Given the description of an element on the screen output the (x, y) to click on. 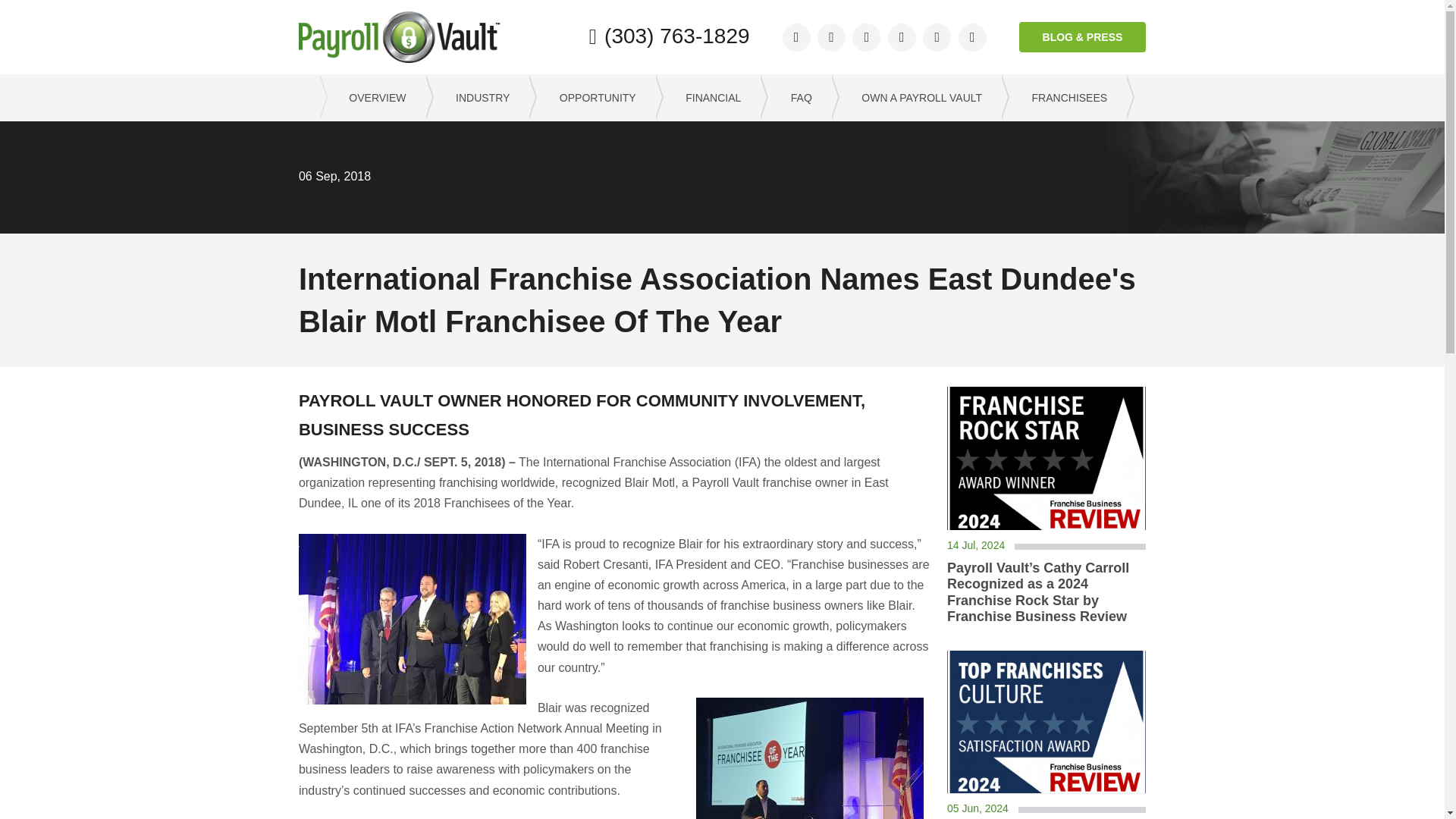
Payroll Vault (399, 37)
GMB (901, 37)
OPPORTUNITY (591, 97)
Own a Payroll Vault page (915, 97)
FINANCIAL (708, 97)
INDUSTRY (477, 97)
FAQ (794, 97)
Payroll Industry page (477, 97)
OWN A PAYROLL VAULT (915, 97)
YOUTUBE (972, 37)
INSTAGRAM (936, 37)
OVERVIEW (371, 97)
FACEBOOK (796, 37)
Payroll Franchise Opportunities page (371, 97)
LINKEDIN (865, 37)
